Given the description of an element on the screen output the (x, y) to click on. 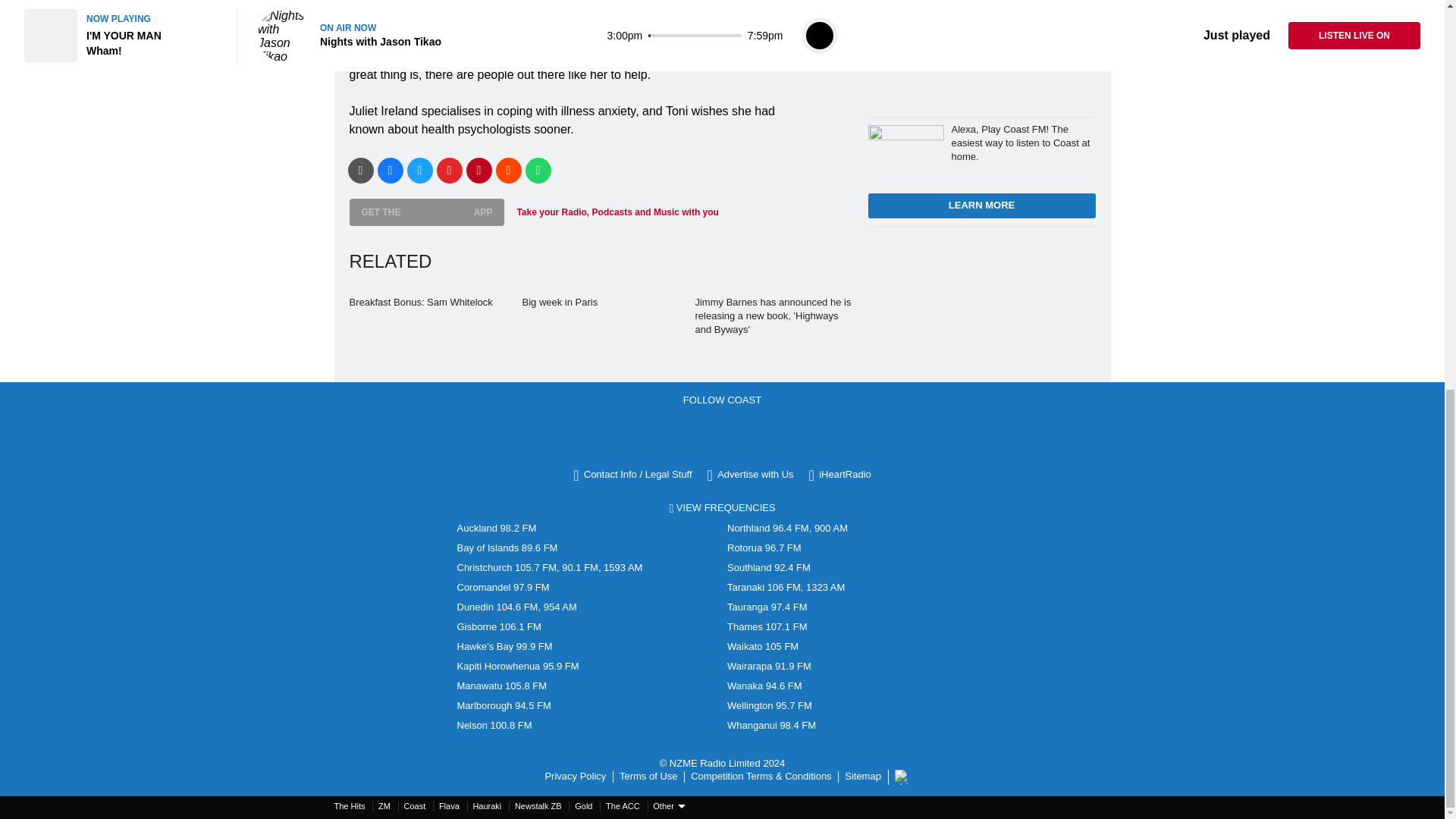
Share with email (359, 170)
Share with flipboard (449, 170)
Share with reddit (508, 170)
Share with pinterest (478, 170)
Share with twitter (419, 170)
Share with facebook (390, 170)
Share with whatsapp (537, 170)
